Given the description of an element on the screen output the (x, y) to click on. 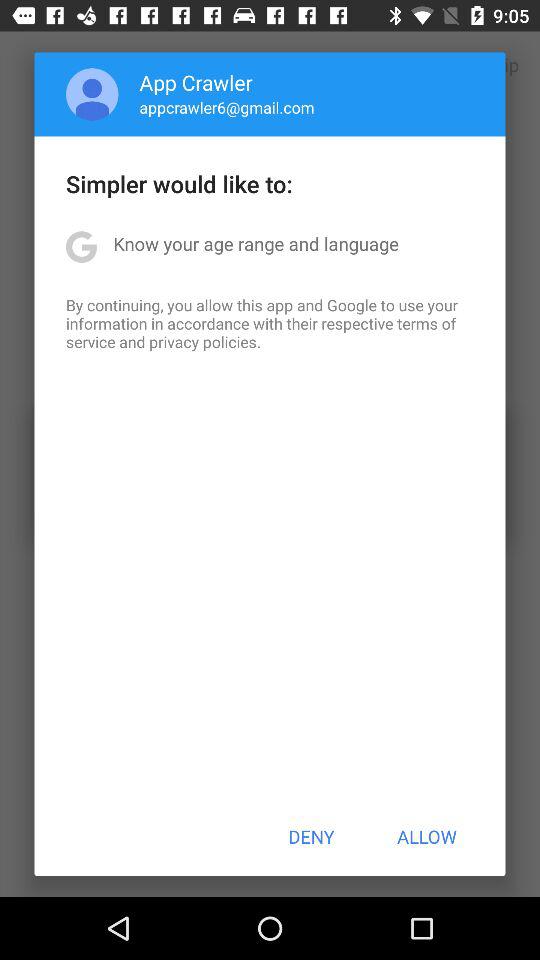
open the app above appcrawler6@gmail.com item (195, 82)
